Given the description of an element on the screen output the (x, y) to click on. 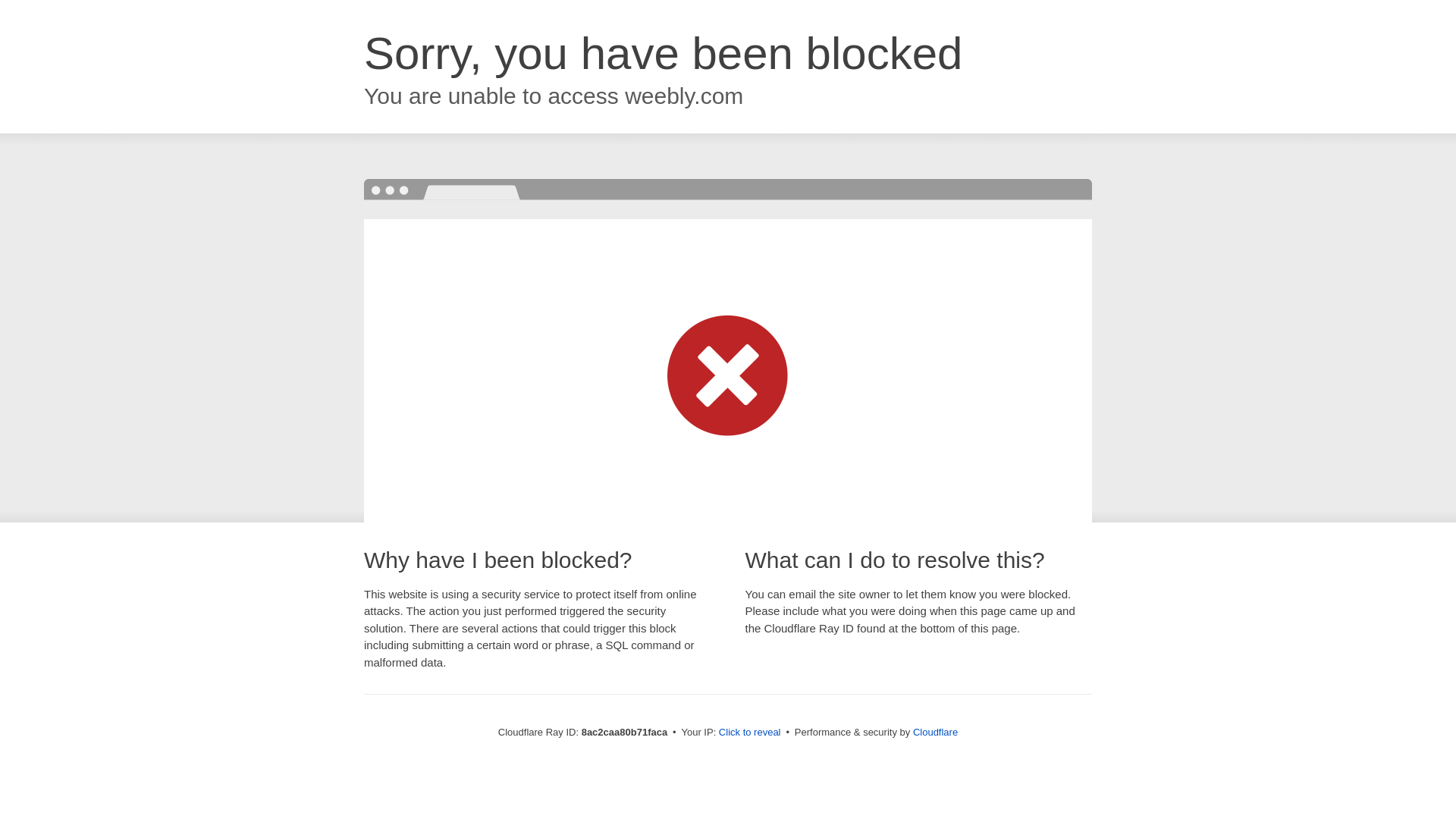
Cloudflare (935, 731)
Click to reveal (749, 732)
